Given the description of an element on the screen output the (x, y) to click on. 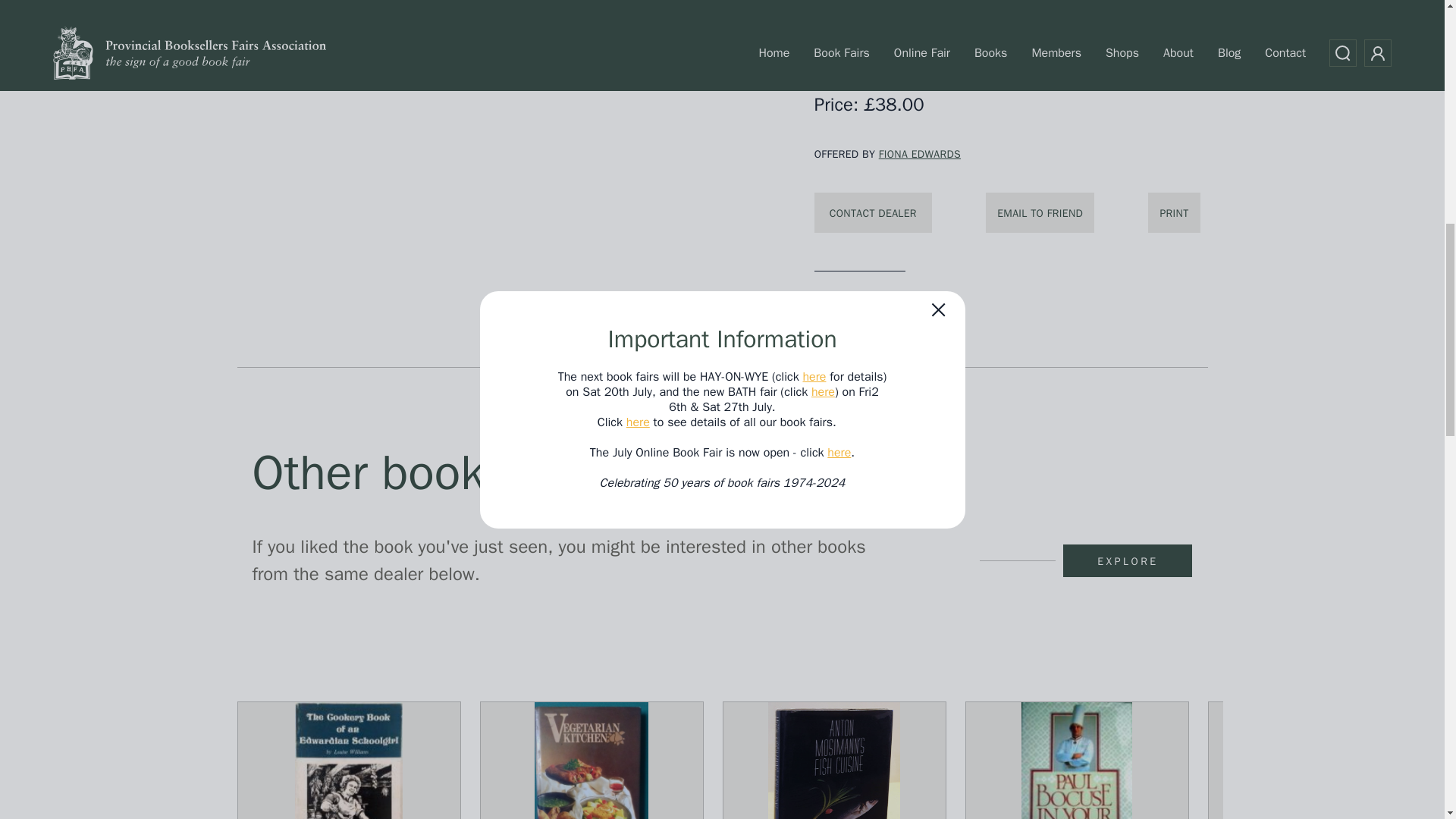
Print book information (1173, 212)
EXPLORE (1127, 560)
Share book on Twitter (820, 321)
Link to dealer (919, 154)
PRINT (1173, 212)
Link to The Complete Guide to the Art of Modern Cookery page (1039, 212)
Contact the dealer (872, 212)
FIONA EDWARDS (919, 154)
CONTACT DEALER (872, 212)
EMAIL TO FRIEND (1039, 212)
